Given the description of an element on the screen output the (x, y) to click on. 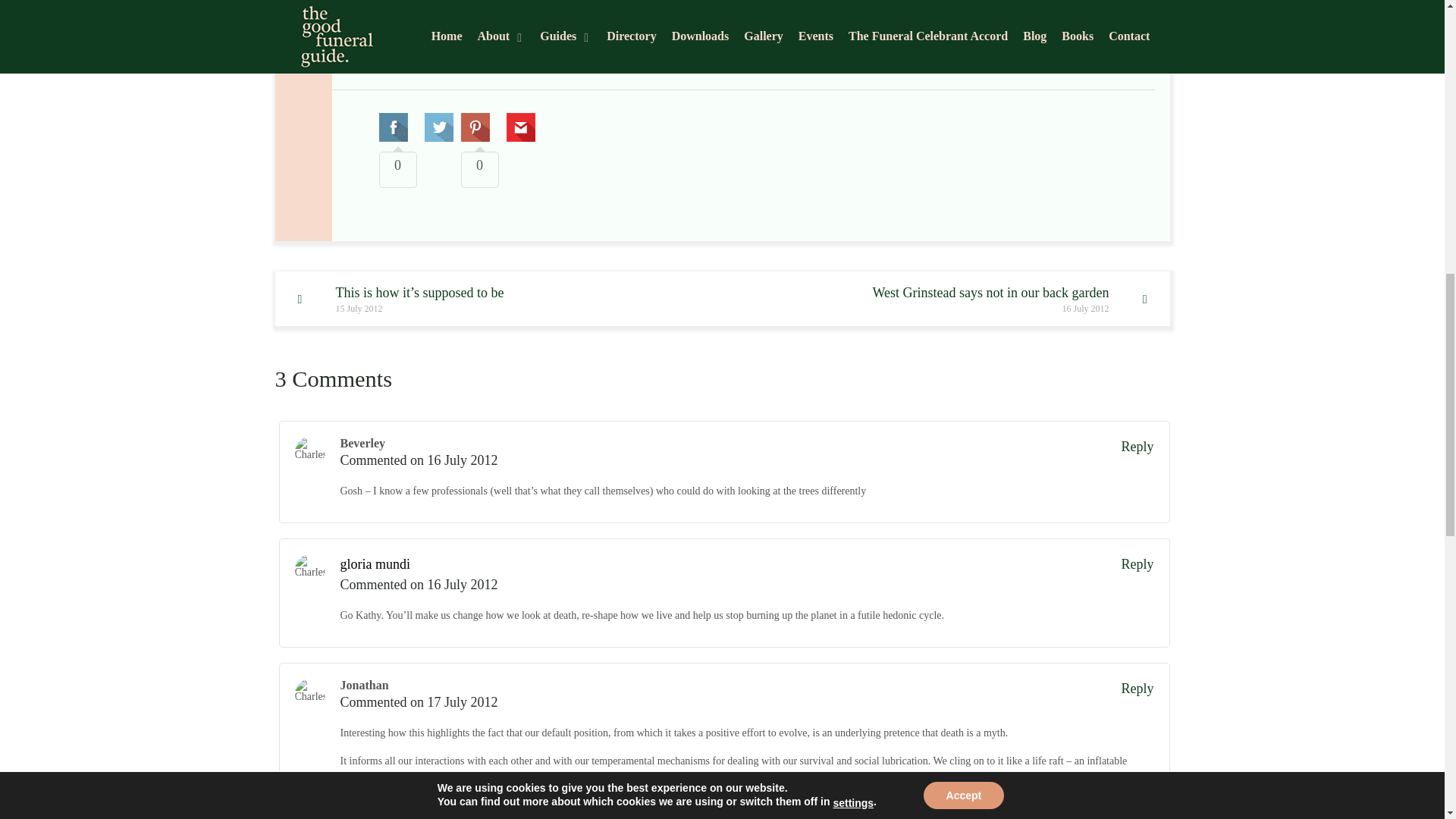
Charles (309, 451)
Charles (309, 693)
Charles (309, 569)
here (1015, 298)
